Given the description of an element on the screen output the (x, y) to click on. 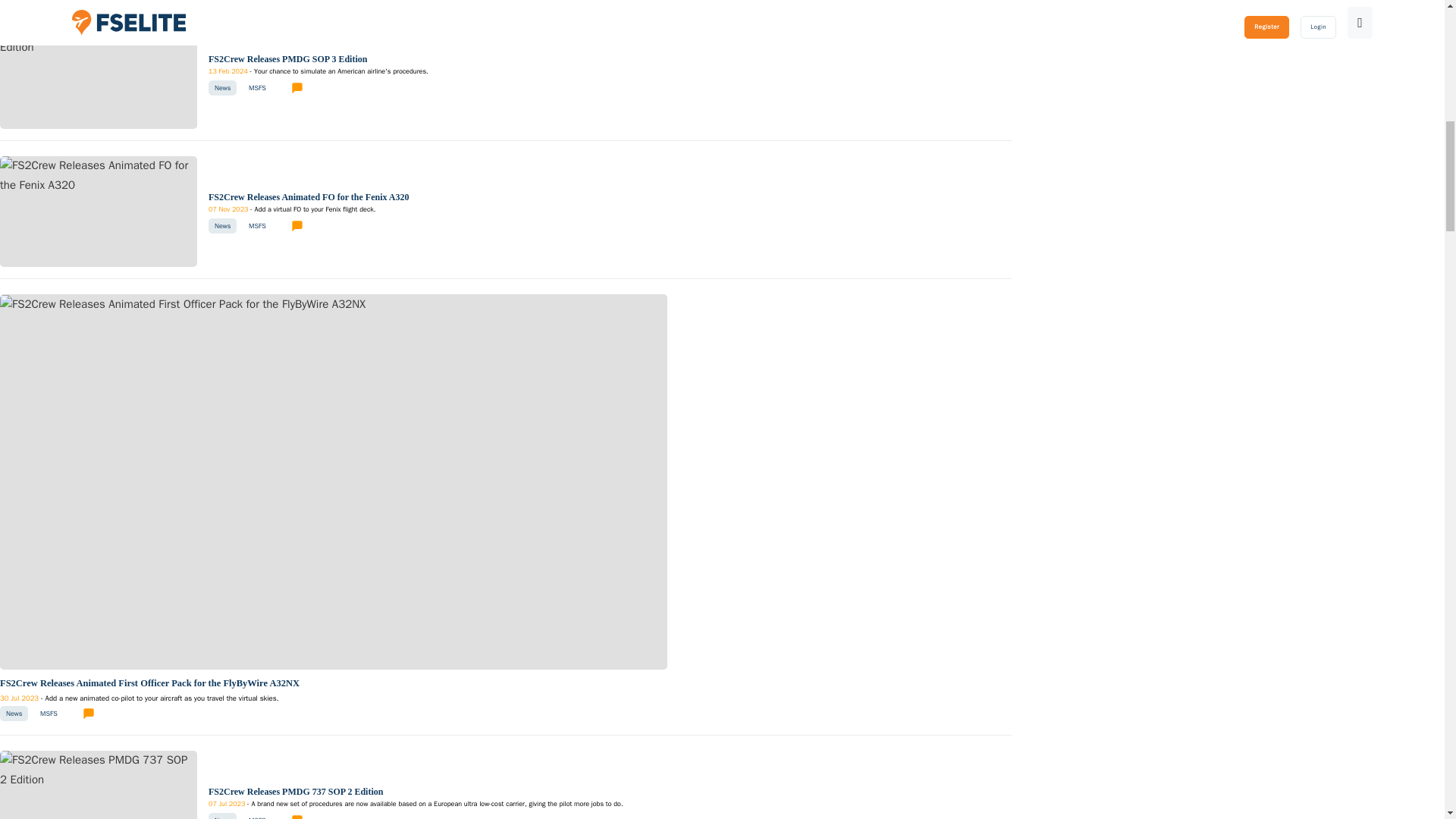
FS2Crew Releases PMDG SOP 3 Edition (318, 71)
FS2Crew Releases PMDG SOP 3 Edition (287, 59)
FS2Crew Releases PMDG SOP 3 Edition (98, 37)
